Given the description of an element on the screen output the (x, y) to click on. 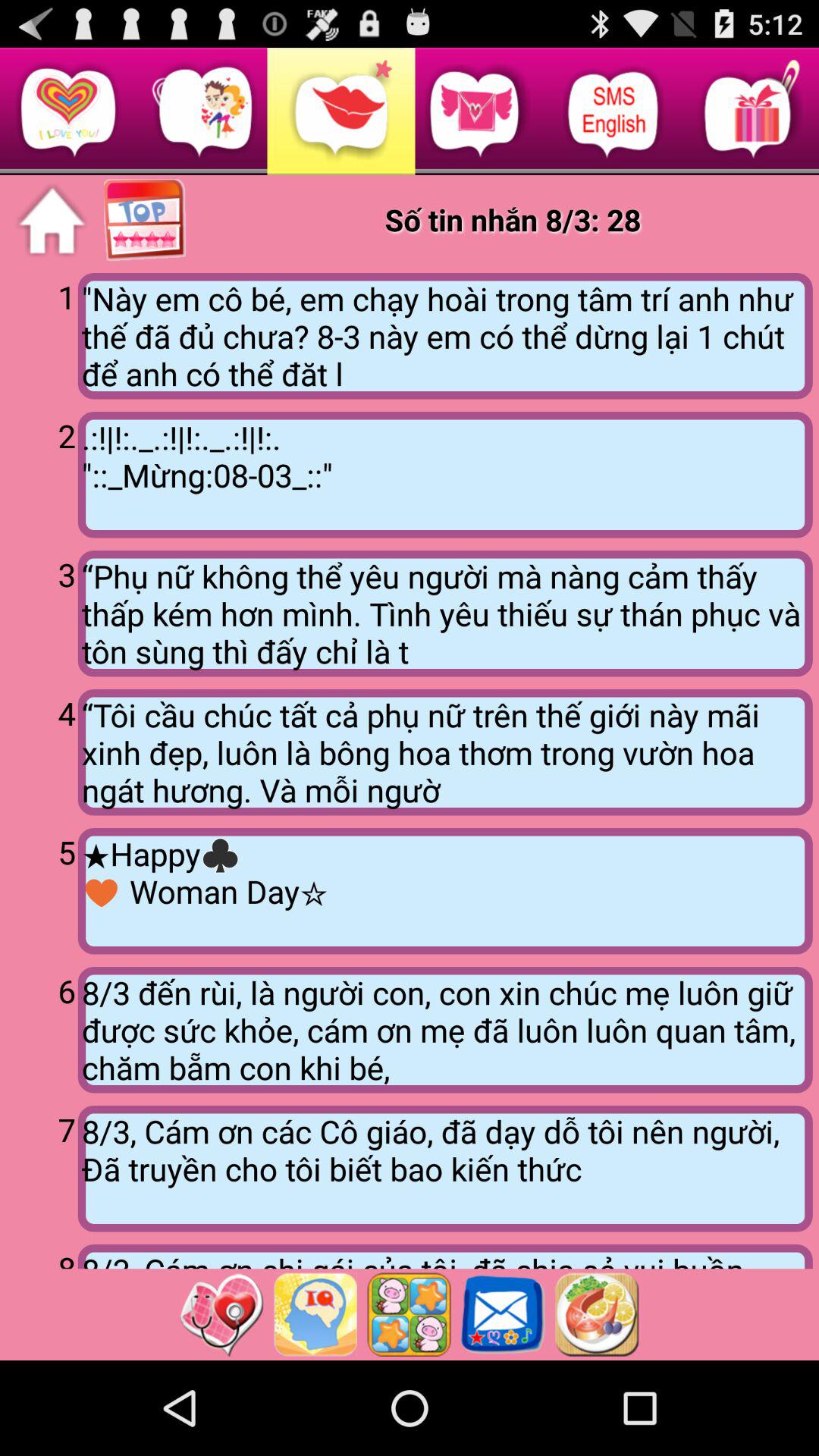
go home button (51, 220)
